Given the description of an element on the screen output the (x, y) to click on. 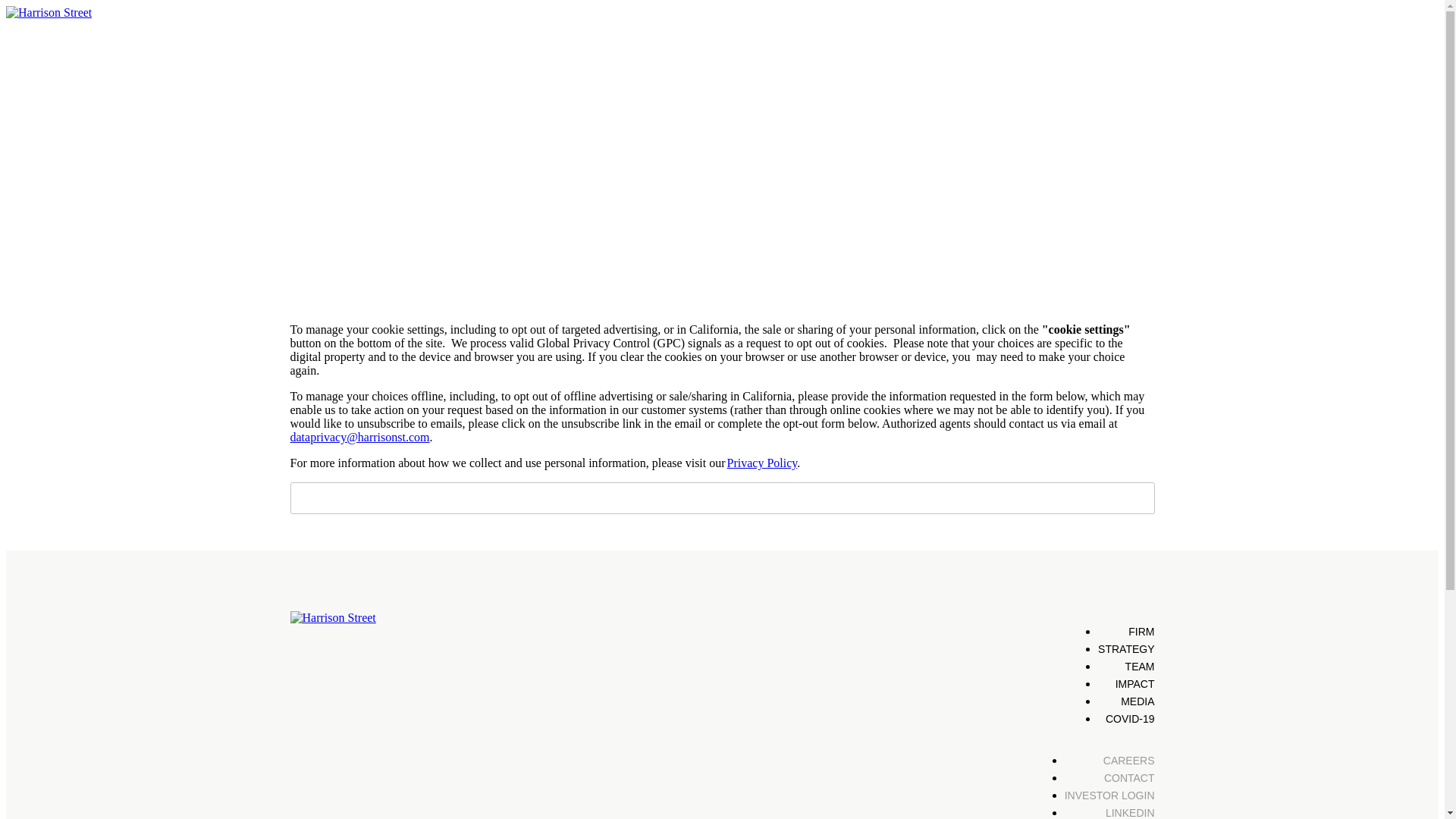
CAREERS (1128, 760)
LINKEDIN (1129, 812)
CONTACT (1128, 777)
COVID-19 (1129, 718)
TEAM (1139, 666)
FIRM (1141, 631)
Harrison Street (332, 617)
MEDIA (1137, 701)
Privacy Policy (761, 462)
STRATEGY (1125, 648)
IMPACT (1134, 684)
INVESTOR LOGIN (1109, 795)
